Given the description of an element on the screen output the (x, y) to click on. 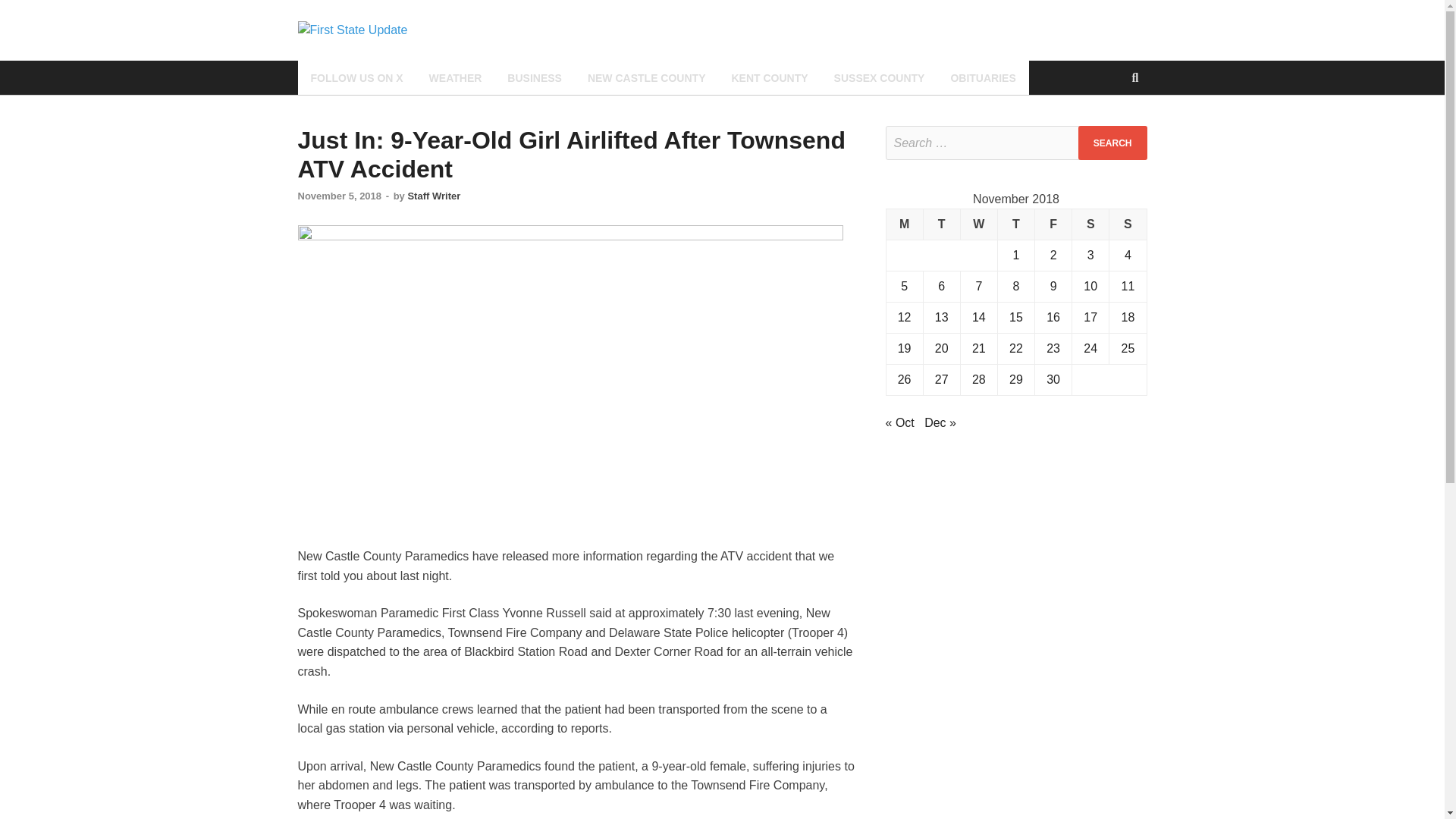
WEATHER (455, 77)
19 (904, 348)
16 (1052, 317)
OBITUARIES (982, 77)
NEW CASTLE COUNTY (647, 77)
Tuesday (941, 224)
Thursday (1015, 224)
20 (941, 348)
First State Update (535, 51)
SUSSEX COUNTY (879, 77)
